Given the description of an element on the screen output the (x, y) to click on. 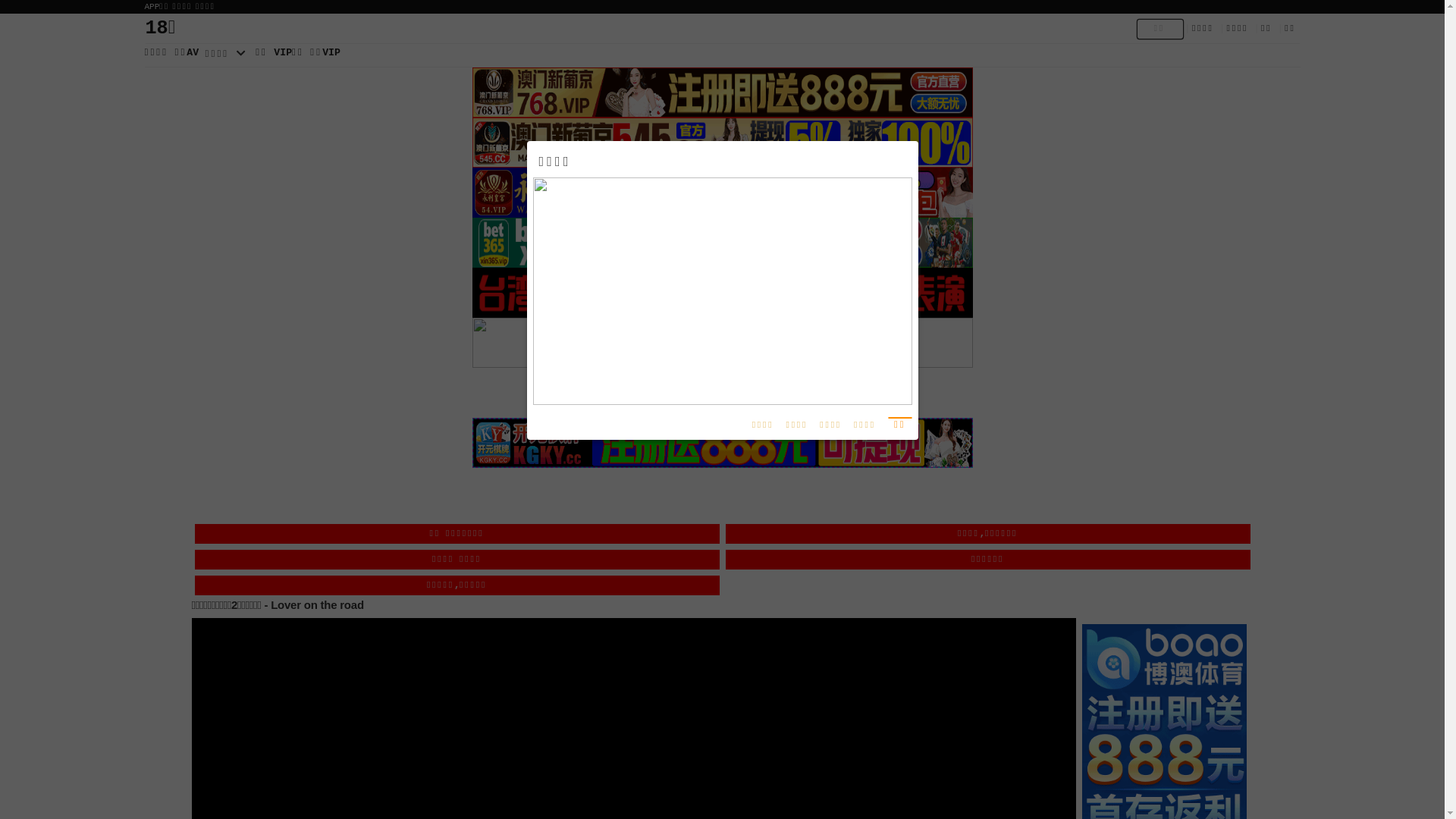
https://18lu201.xyz Element type: text (716, 328)
https://18lu202.xyz Element type: text (716, 309)
https://18lu203.xyz Element type: text (716, 290)
https://18lu200.xyz Element type: text (716, 347)
https://18lu204.xyz Element type: text (716, 271)
